Given the description of an element on the screen output the (x, y) to click on. 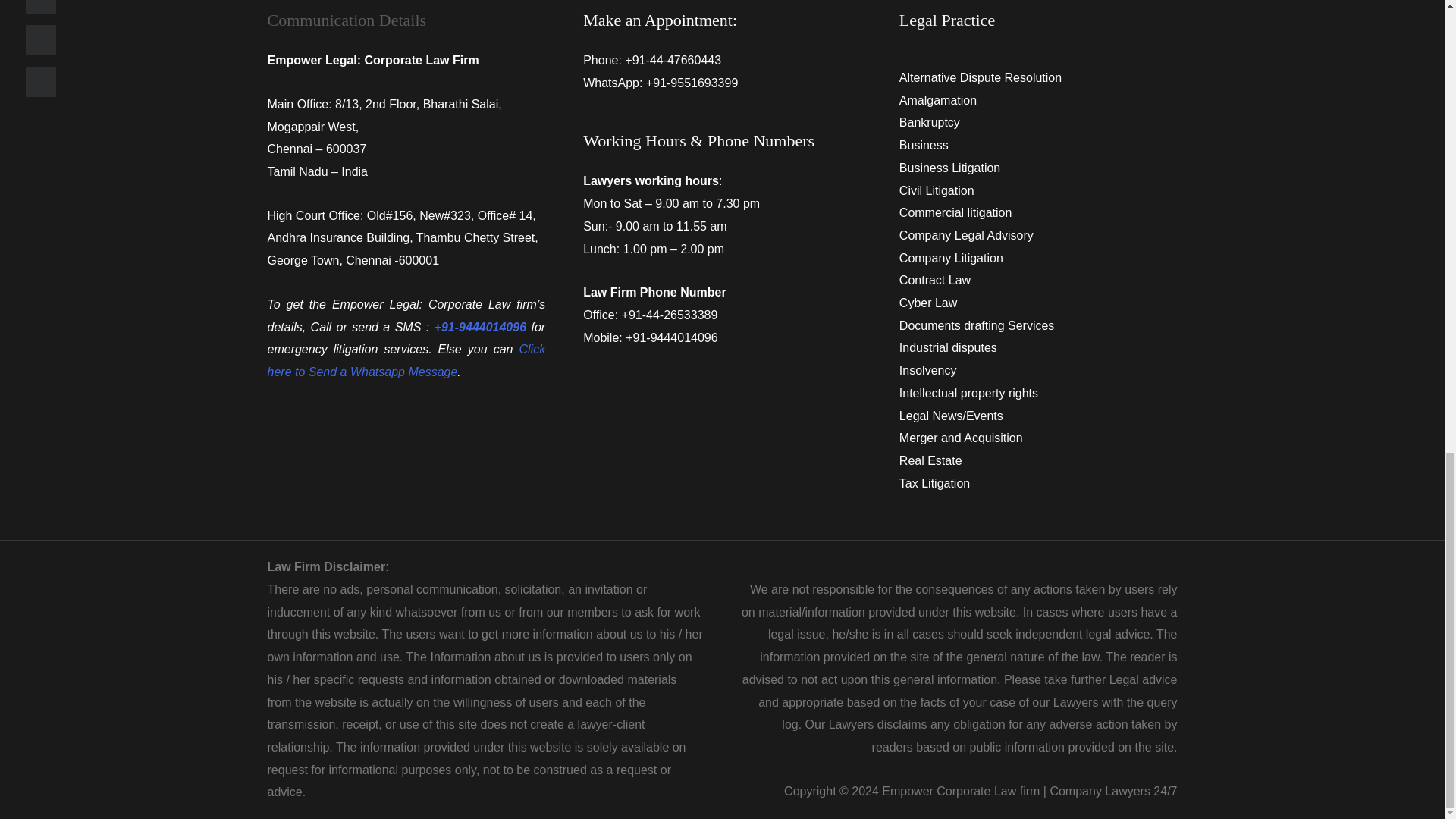
Commercial litigation (955, 212)
Company Litigation (951, 257)
Click here to Send a Whatsapp Message (405, 360)
Alternative Dispute Resolution (980, 77)
Business Litigation (949, 167)
Facebook (41, 6)
Contract Law (935, 279)
Bankruptcy (929, 122)
Company Legal Advisory (966, 235)
Civil Litigation (936, 190)
Amalgamation (937, 100)
Business (924, 144)
